Given the description of an element on the screen output the (x, y) to click on. 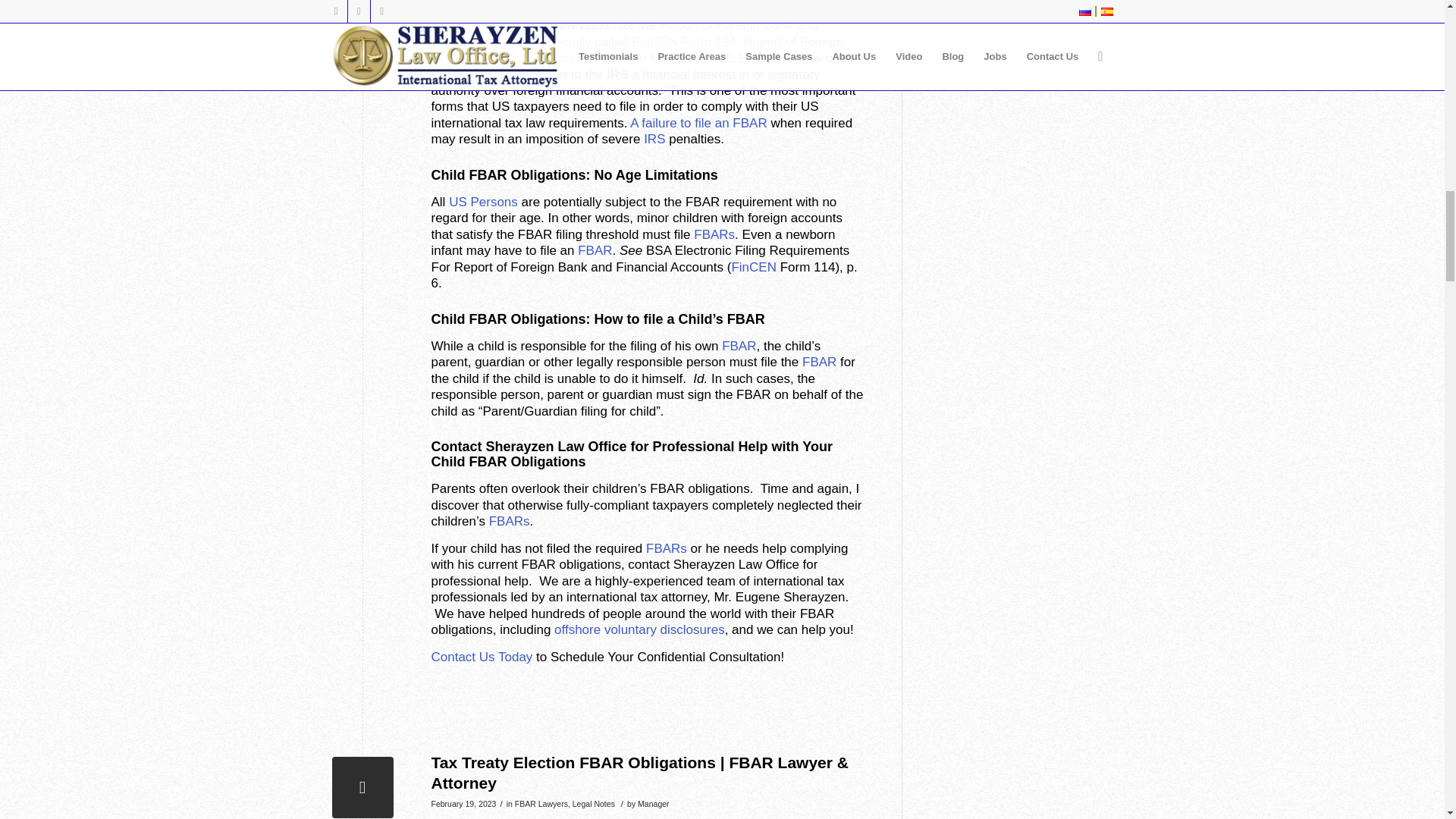
Posts by Manager (653, 803)
